Given the description of an element on the screen output the (x, y) to click on. 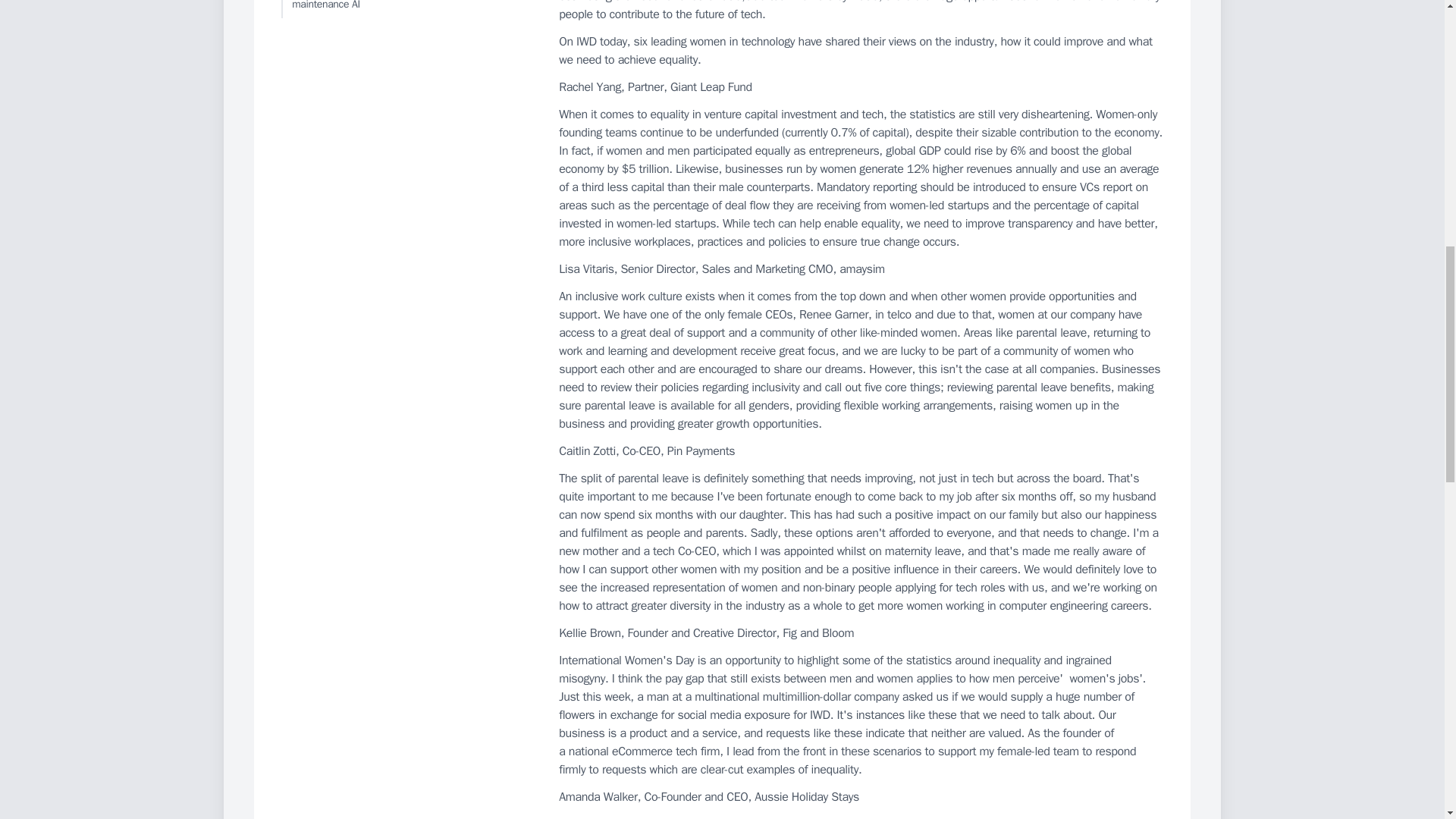
IFS acquires EmpowerMX to enhance aviation maintenance AI (406, 9)
